Given the description of an element on the screen output the (x, y) to click on. 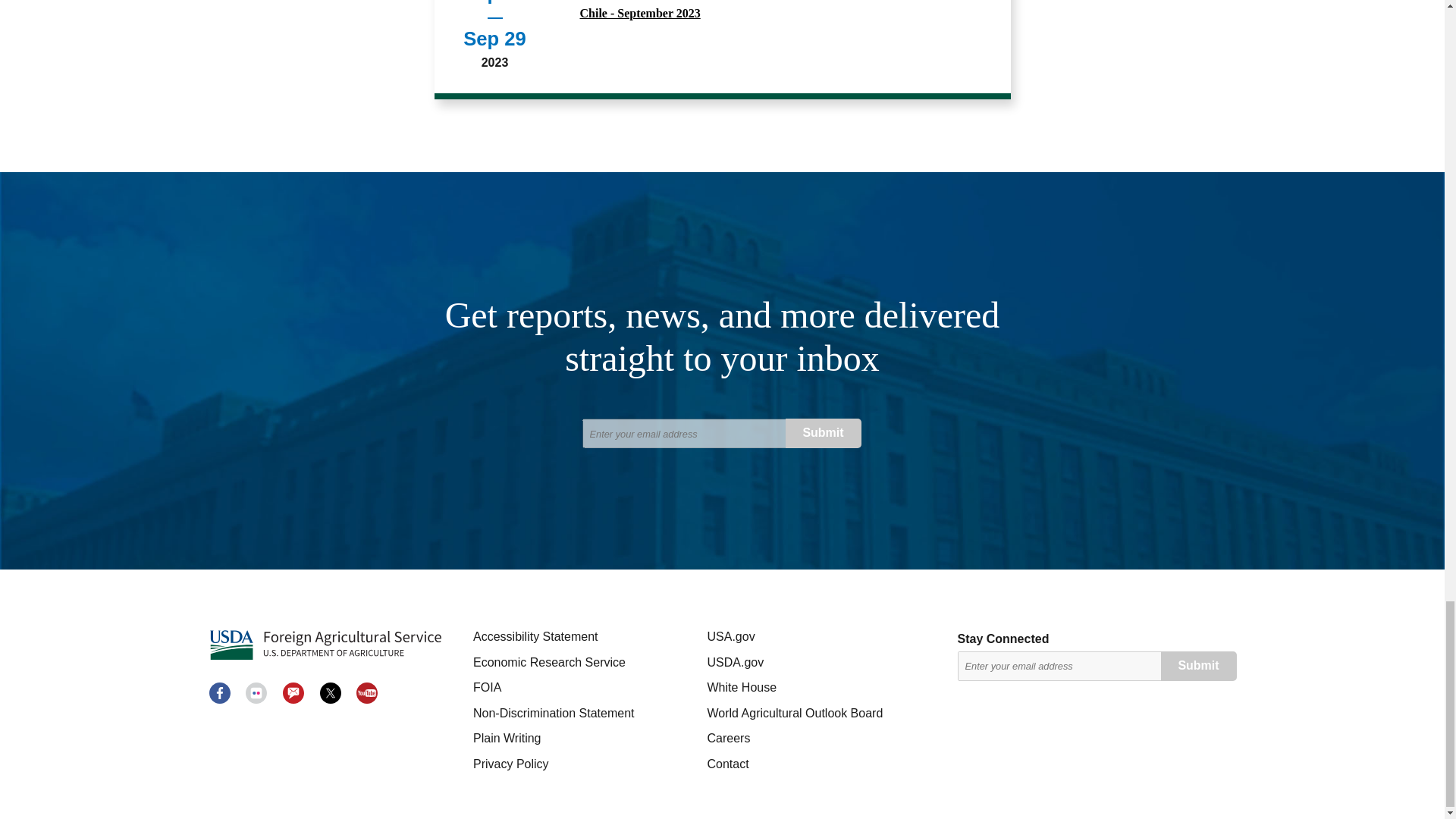
Economic Research Service (583, 662)
Facebook (219, 692)
Non-Discrimination Statement (583, 713)
Privacy Policy (583, 764)
USDA Foreign Agricultural Service Home (325, 644)
Flickr (256, 692)
Accessibility Statement (583, 636)
Youtube (366, 692)
FOIA (583, 687)
GovDelivery (293, 692)
Submit (823, 432)
Chile - September 2023 (782, 13)
Submit (1198, 665)
Plain Writing (583, 738)
USDA Foreign Agricultural Service (325, 644)
